Given the description of an element on the screen output the (x, y) to click on. 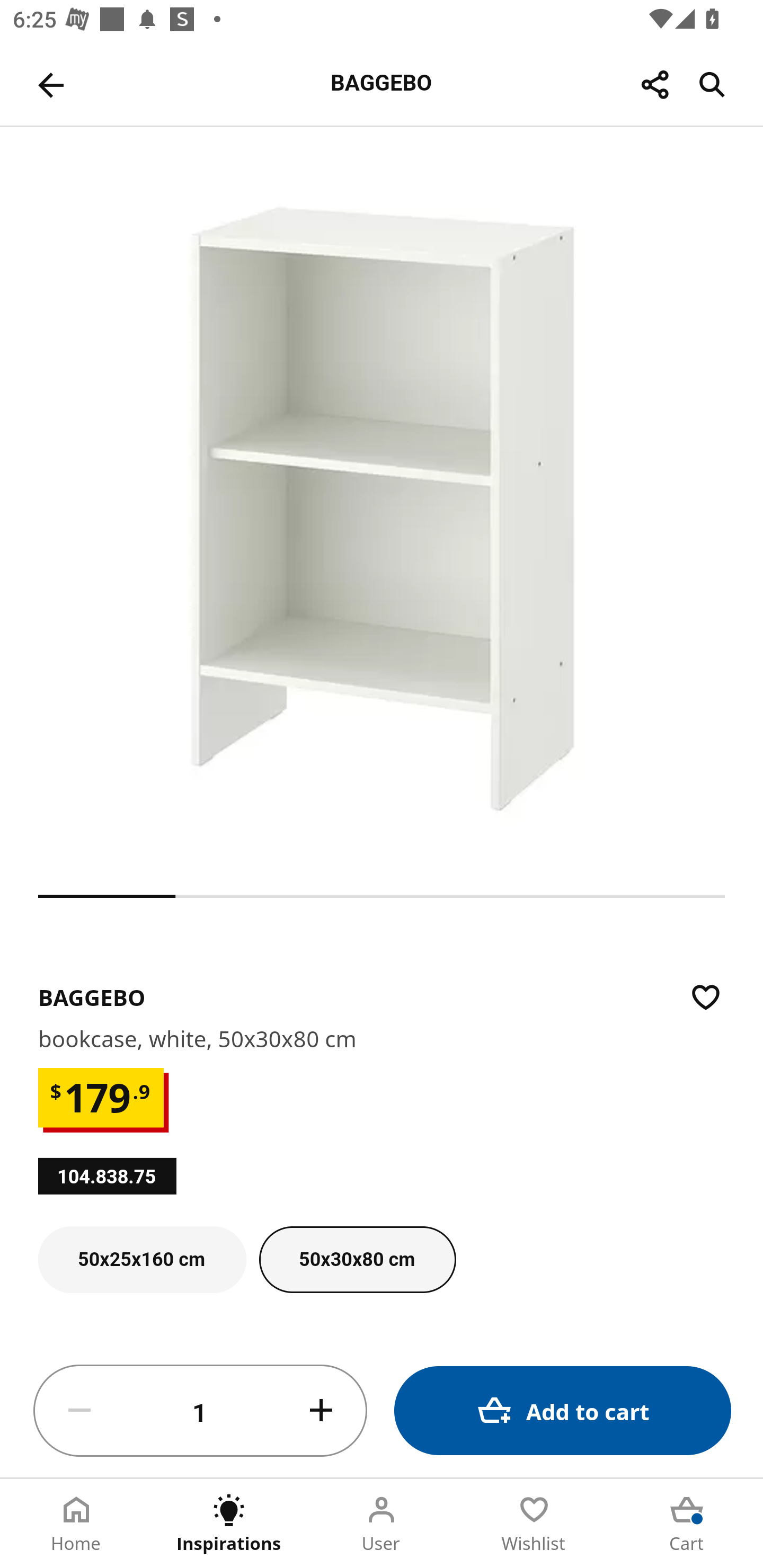
50x25x160 cm (142, 1259)
50x30x80 cm (357, 1259)
Add to cart (562, 1410)
1 (200, 1411)
Home
Tab 1 of 5 (76, 1522)
Inspirations
Tab 2 of 5 (228, 1522)
User
Tab 3 of 5 (381, 1522)
Wishlist
Tab 4 of 5 (533, 1522)
Cart
Tab 5 of 5 (686, 1522)
